Given the description of an element on the screen output the (x, y) to click on. 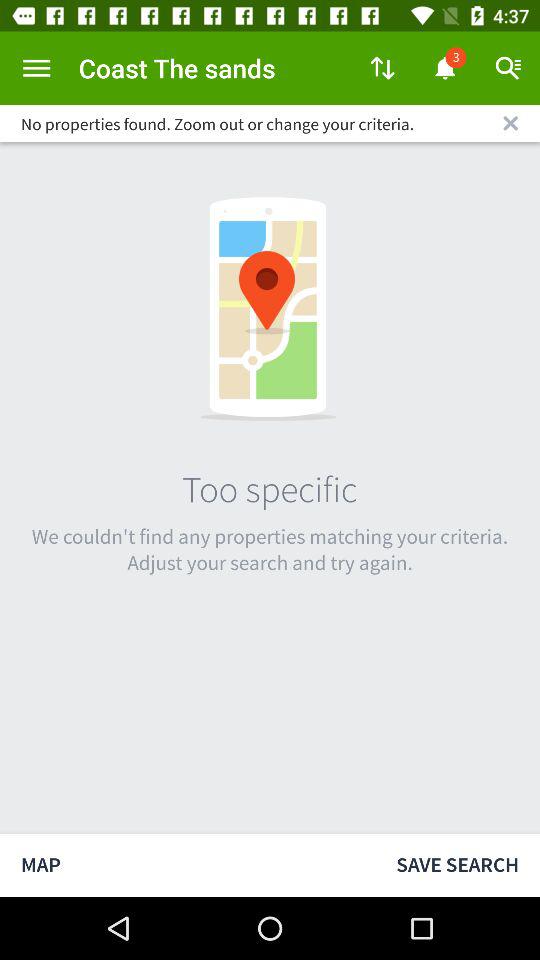
launch the save search icon (457, 864)
